Given the description of an element on the screen output the (x, y) to click on. 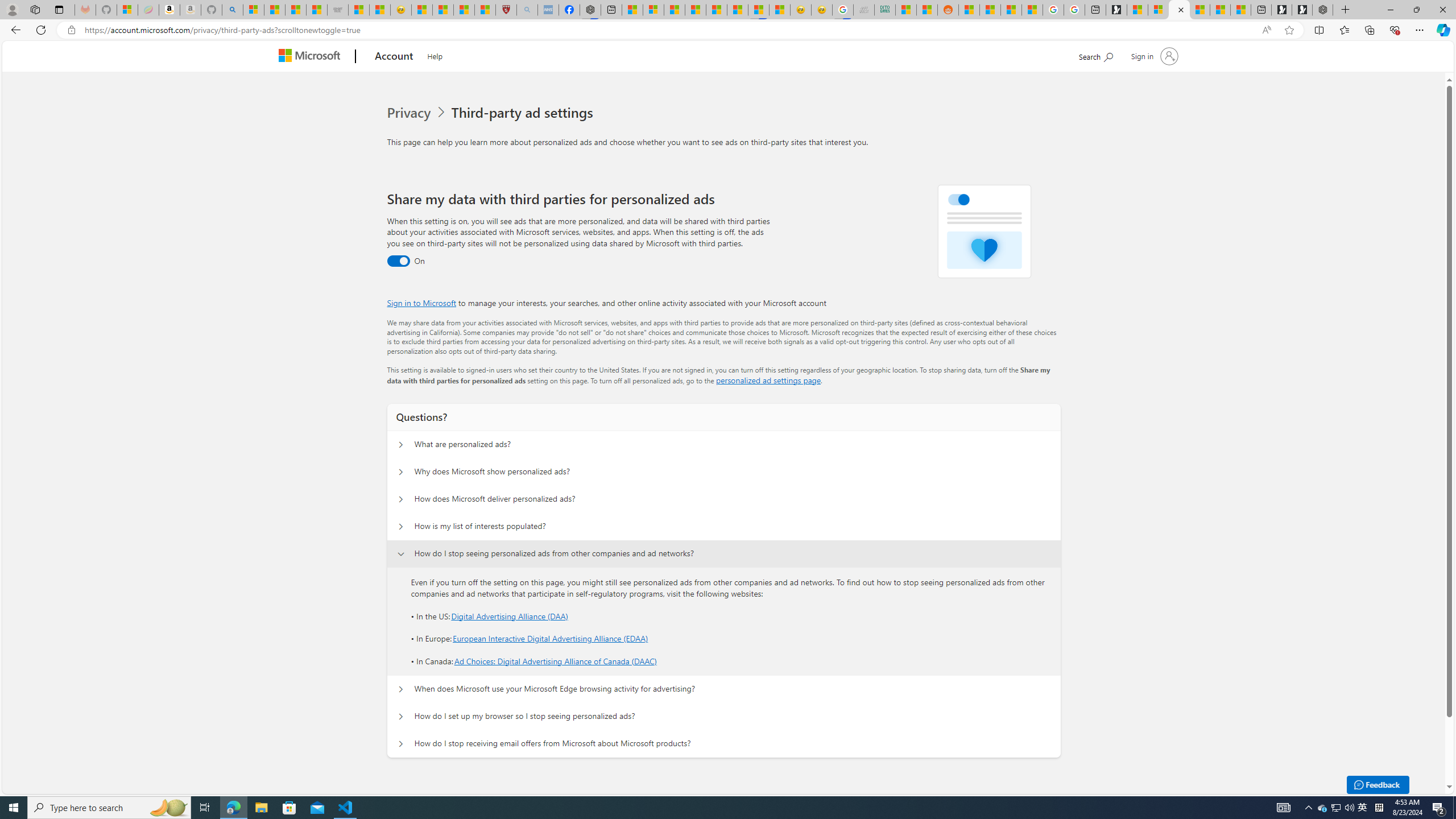
Questions? How is my list of interests populated? (401, 526)
